Given the description of an element on the screen output the (x, y) to click on. 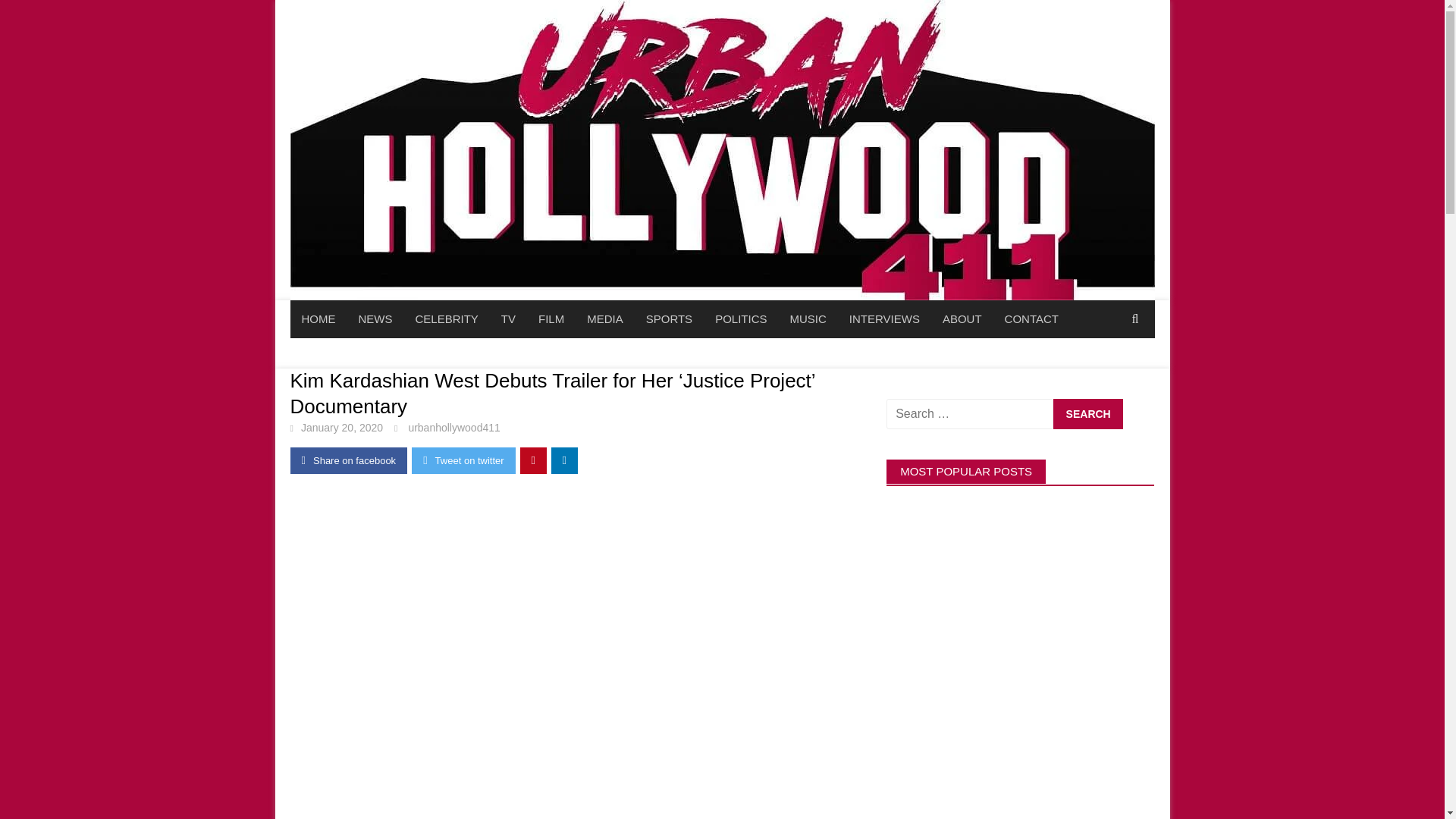
NEWS (375, 319)
TV (508, 319)
Search (1087, 413)
MUSIC (807, 319)
CELEBRITY (446, 319)
HOME (317, 319)
MEDIA (604, 319)
INTERVIEWS (884, 319)
Tweet on twitter (463, 460)
ABOUT (961, 319)
SPORTS (668, 319)
POLITICS (740, 319)
January 20, 2020 (341, 427)
CONTACT (1031, 319)
Share on facebook (348, 460)
